Given the description of an element on the screen output the (x, y) to click on. 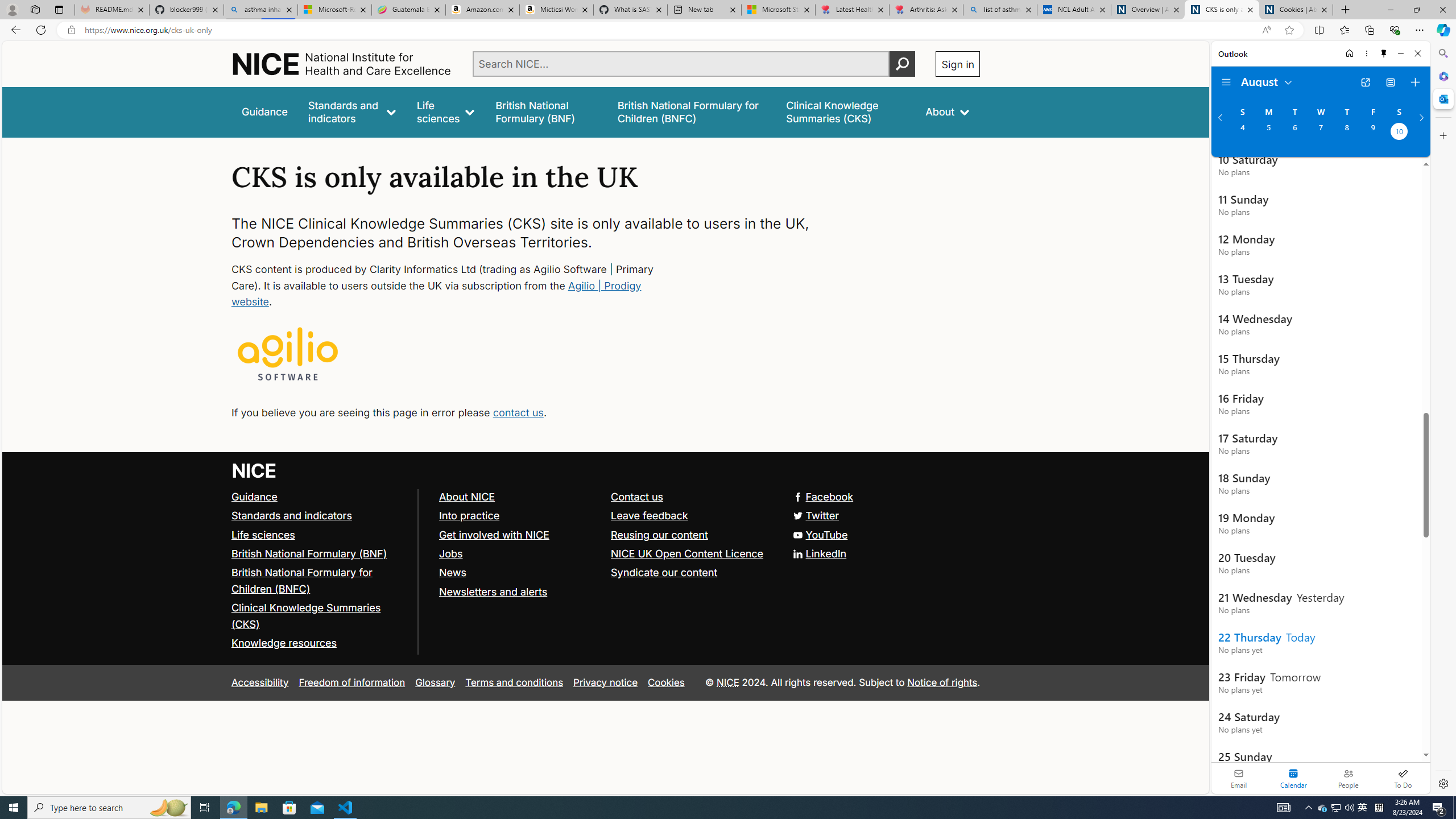
Facebook (605, 496)
Collections (1369, 29)
Contact us (637, 496)
Create event (1414, 82)
View Switcher. Current view is Agenda view (1390, 82)
People (1347, 777)
Notice of rights (941, 681)
Email (1238, 777)
Cookies (665, 682)
Logo for Clarity Consulting (288, 355)
Get involved with NICE (518, 534)
